Given the description of an element on the screen output the (x, y) to click on. 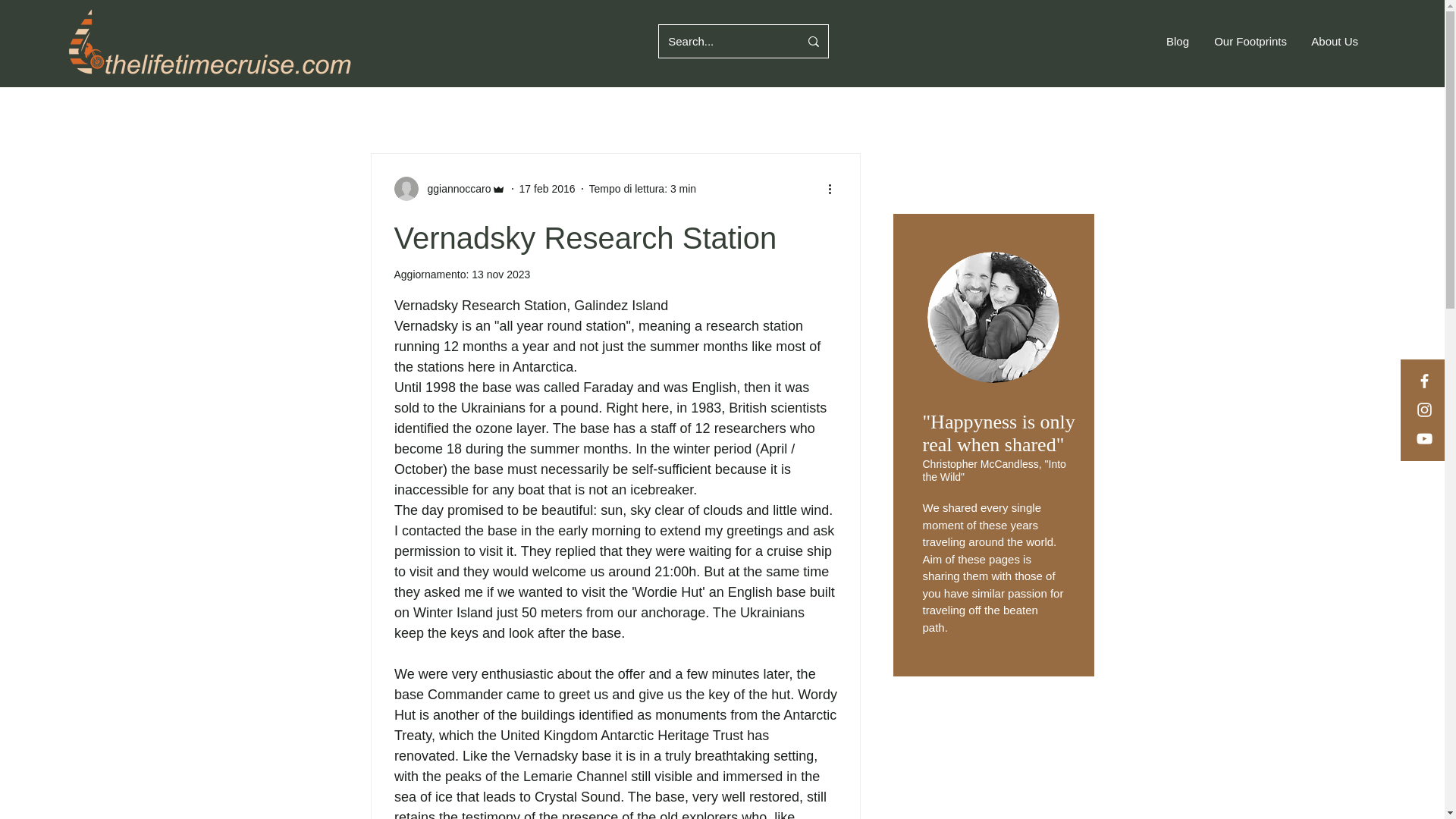
17 feb 2016 (547, 187)
ggiannoccaro (455, 188)
About Us (1334, 41)
13 nov 2023 (500, 274)
Blog (1176, 41)
Tempo di lettura: 3 min (643, 187)
Our Footprints (1248, 41)
